Given the description of an element on the screen output the (x, y) to click on. 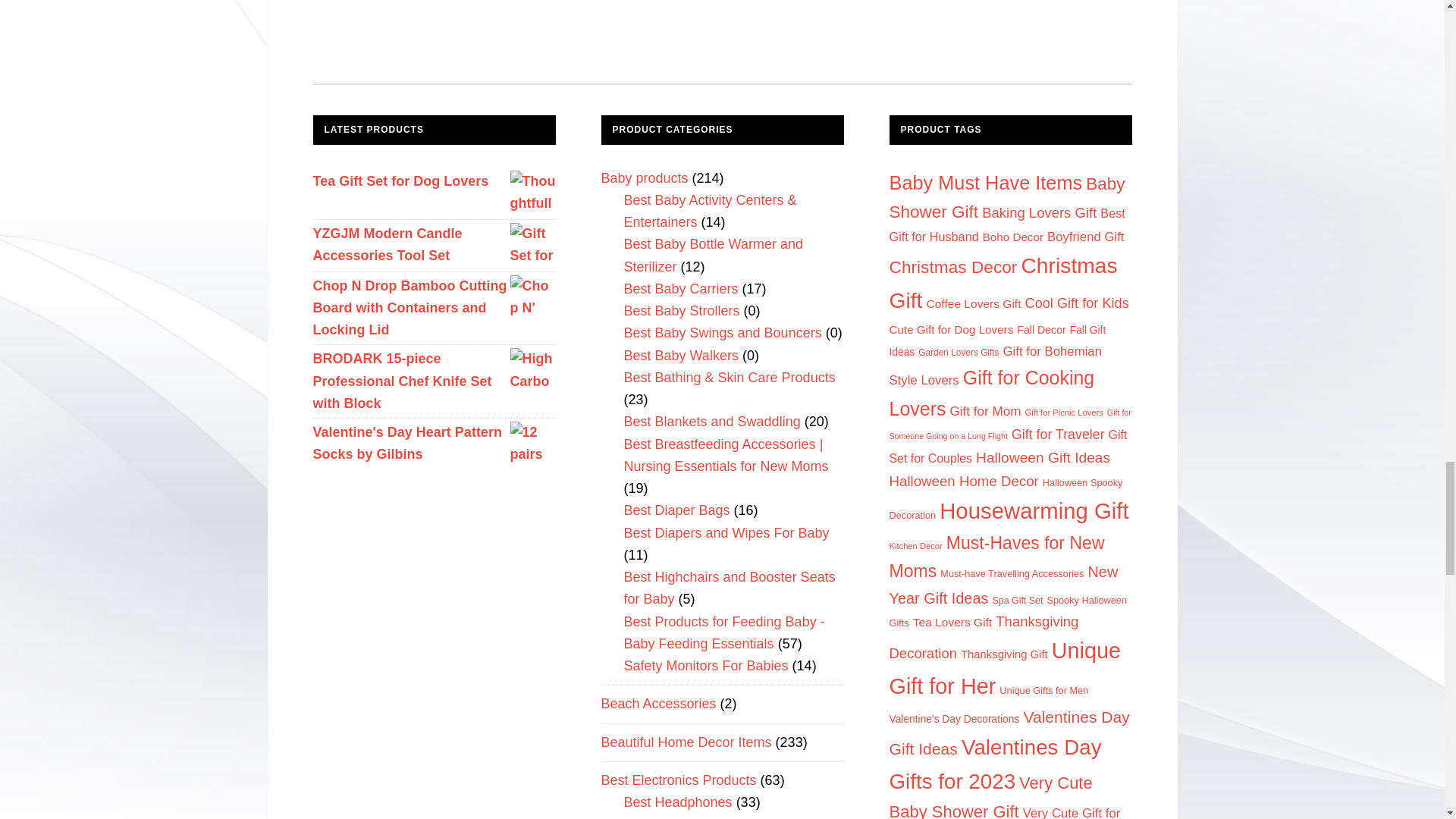
YZGJM Modern Candle Accessories Tool Set (433, 244)
BRODARK 15-piece Professional Chef Knife Set with Block (433, 381)
Best Baby Bottle Warmer and Sterilizer (712, 254)
Valentine's Day Heart Pattern Socks by Gilbins (433, 443)
Baby products (643, 177)
Tea Gift Set for Dog Lovers (433, 181)
